Given the description of an element on the screen output the (x, y) to click on. 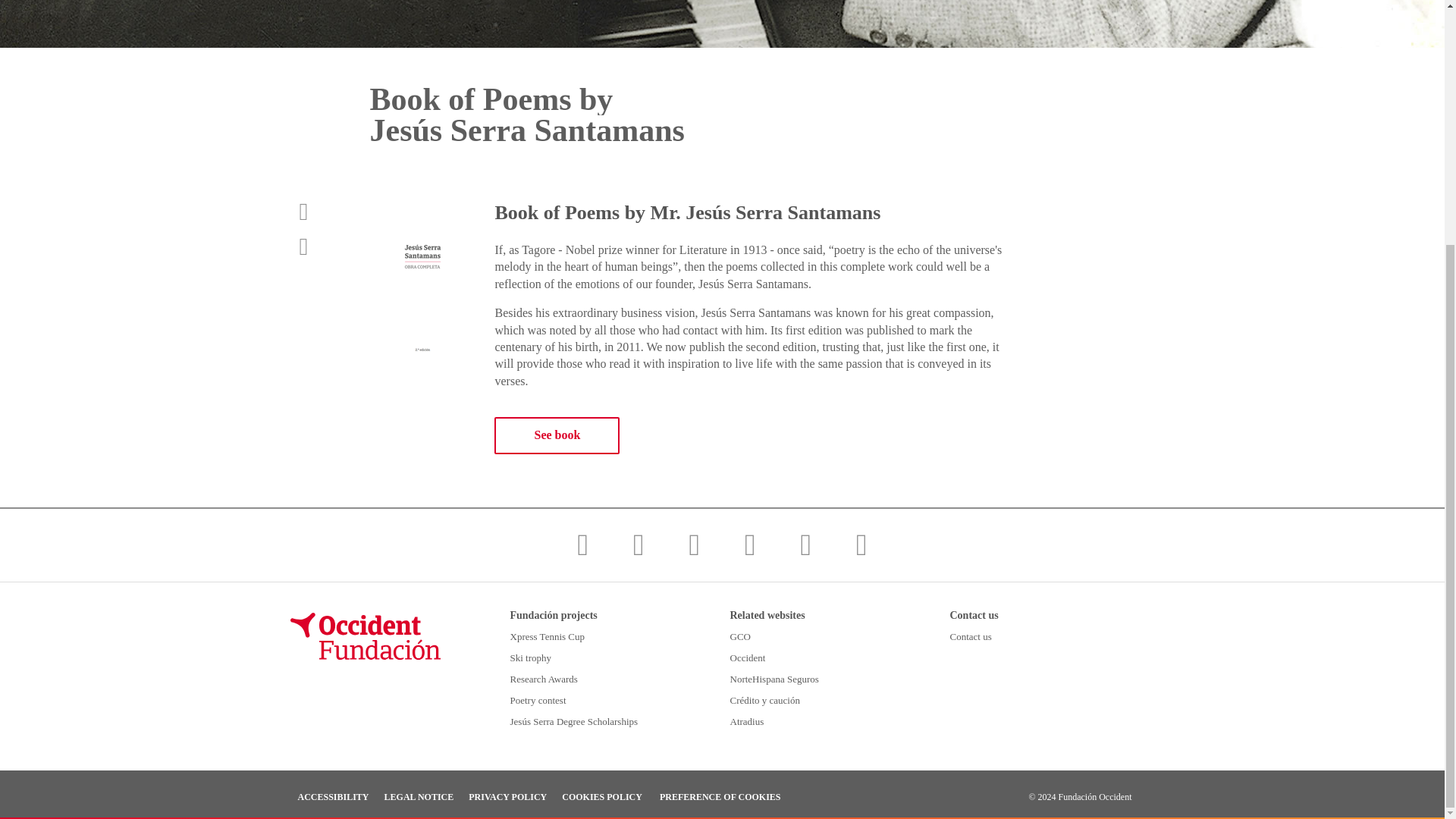
Xpress Tennis Cup (580, 636)
Occident (800, 657)
Legal notice (419, 796)
Ski trophy (580, 657)
GCO (800, 636)
Flickr (860, 544)
See book (557, 435)
NorteHispana Seguros (800, 678)
Poetry contest (580, 699)
Youtube (750, 544)
Privacy policy (507, 796)
Instagram (694, 544)
X (638, 544)
Accessibility (332, 796)
Facebook (582, 544)
